Given the description of an element on the screen output the (x, y) to click on. 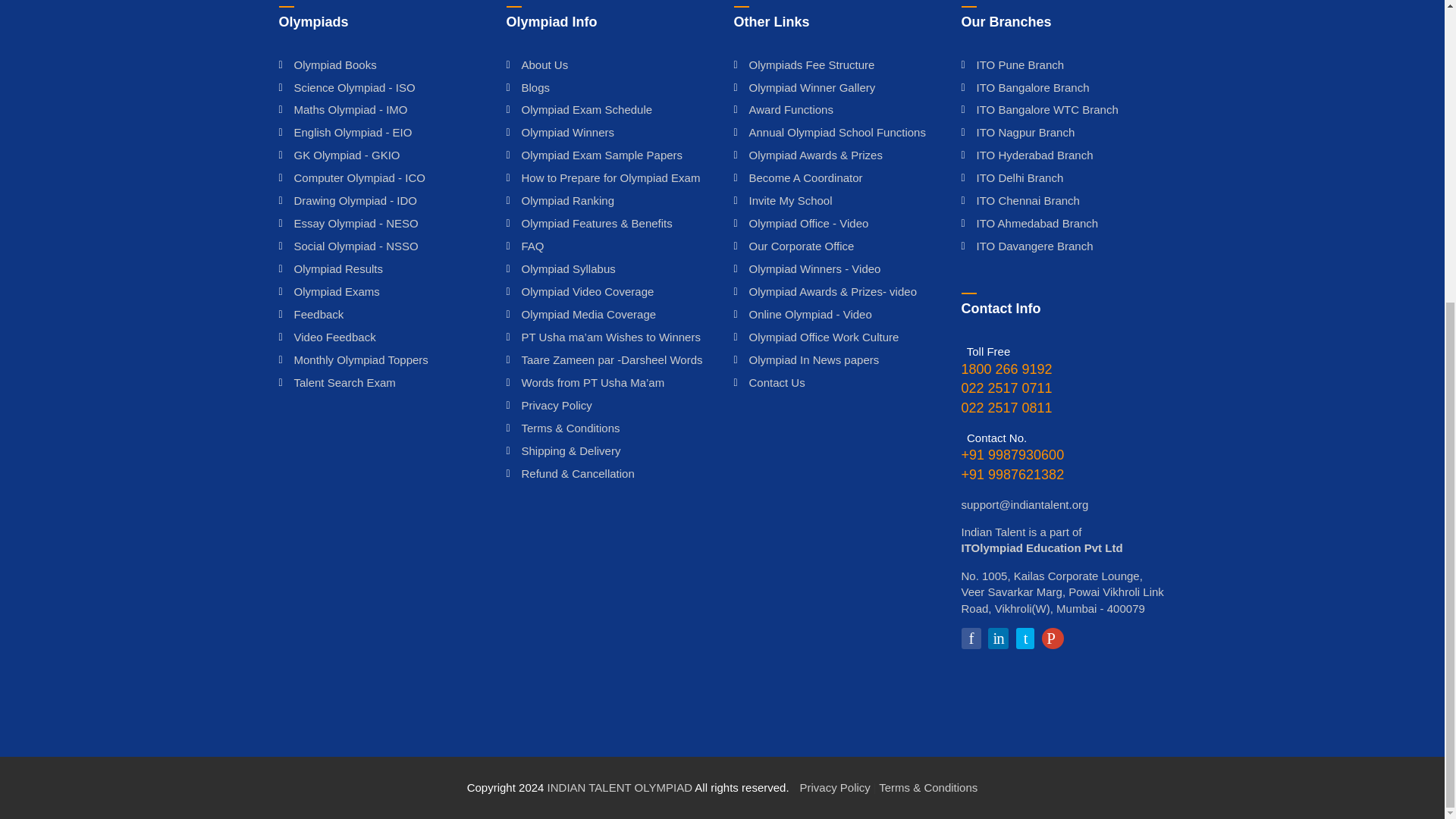
Pinterest (1053, 638)
Twitter  (1025, 638)
Facebook  (970, 638)
Linkedin (997, 638)
